Given the description of an element on the screen output the (x, y) to click on. 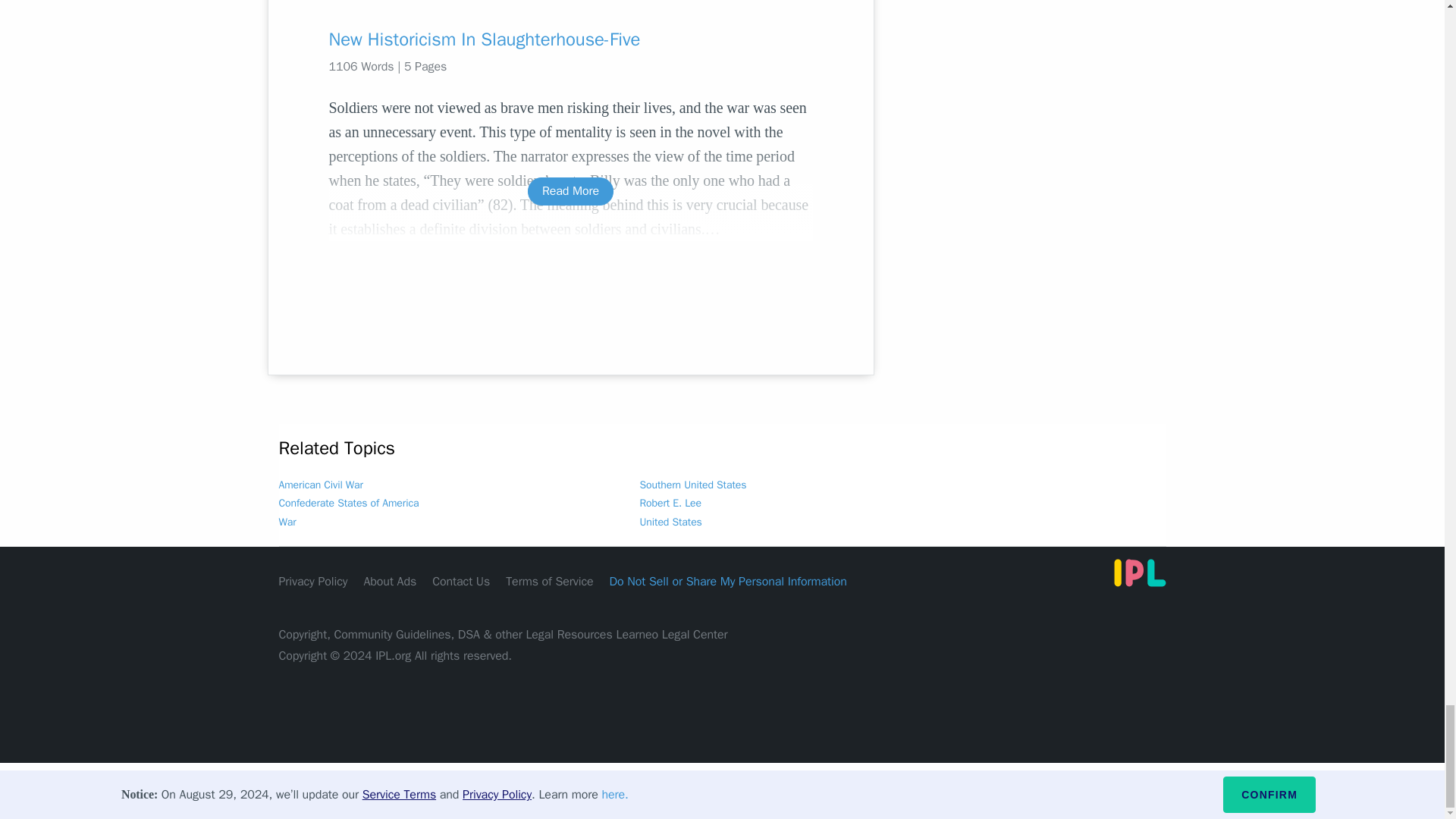
About Ads (389, 581)
Confederate States of America (349, 502)
American Civil War (320, 484)
War (288, 521)
Privacy Policy (313, 581)
United States (670, 521)
Southern United States (693, 484)
Robert E. Lee (670, 502)
Contact Us (460, 581)
Terms of Service (548, 581)
